Given the description of an element on the screen output the (x, y) to click on. 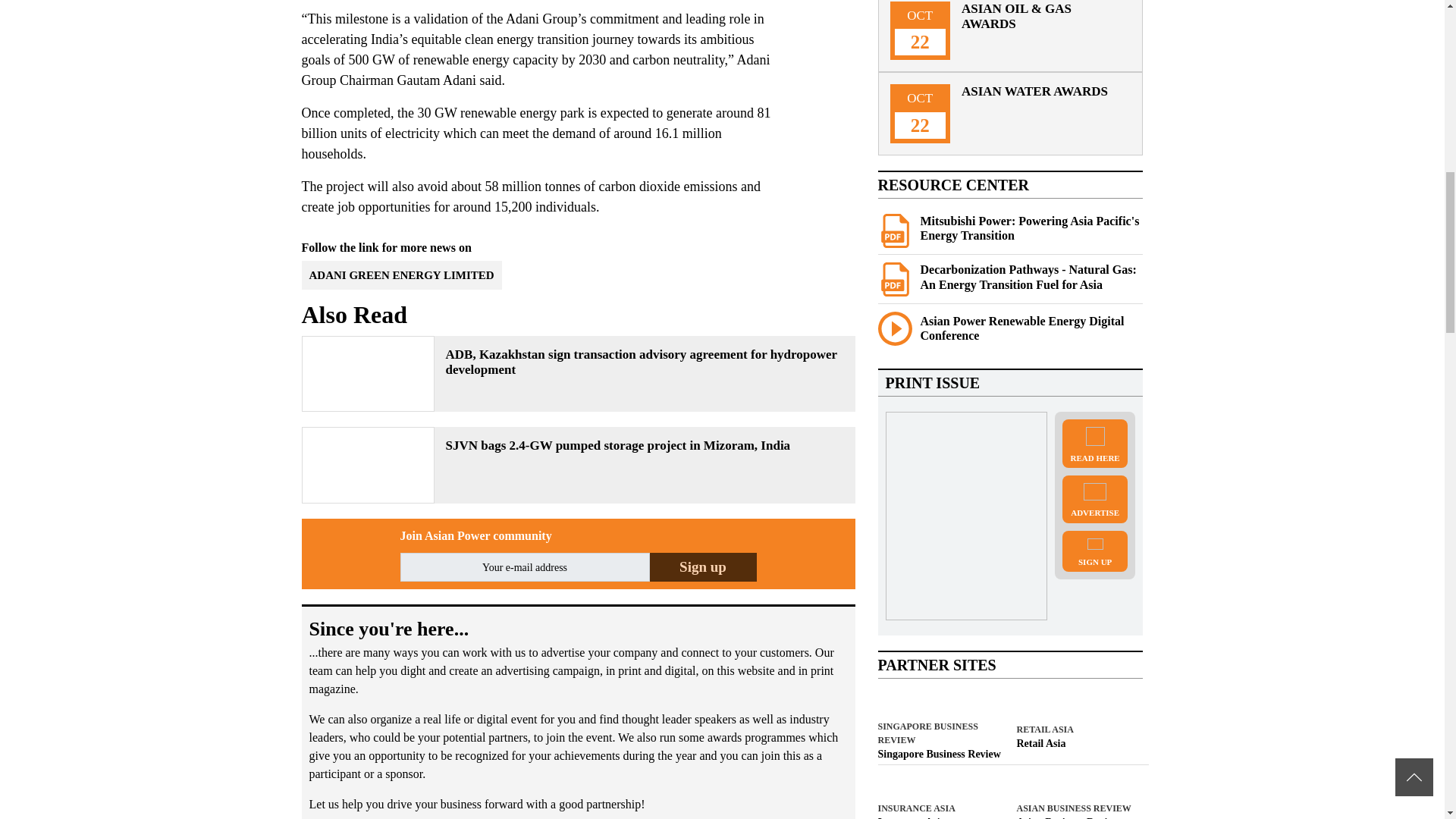
Please enter a valid email (524, 566)
Sign up (702, 566)
